Given the description of an element on the screen output the (x, y) to click on. 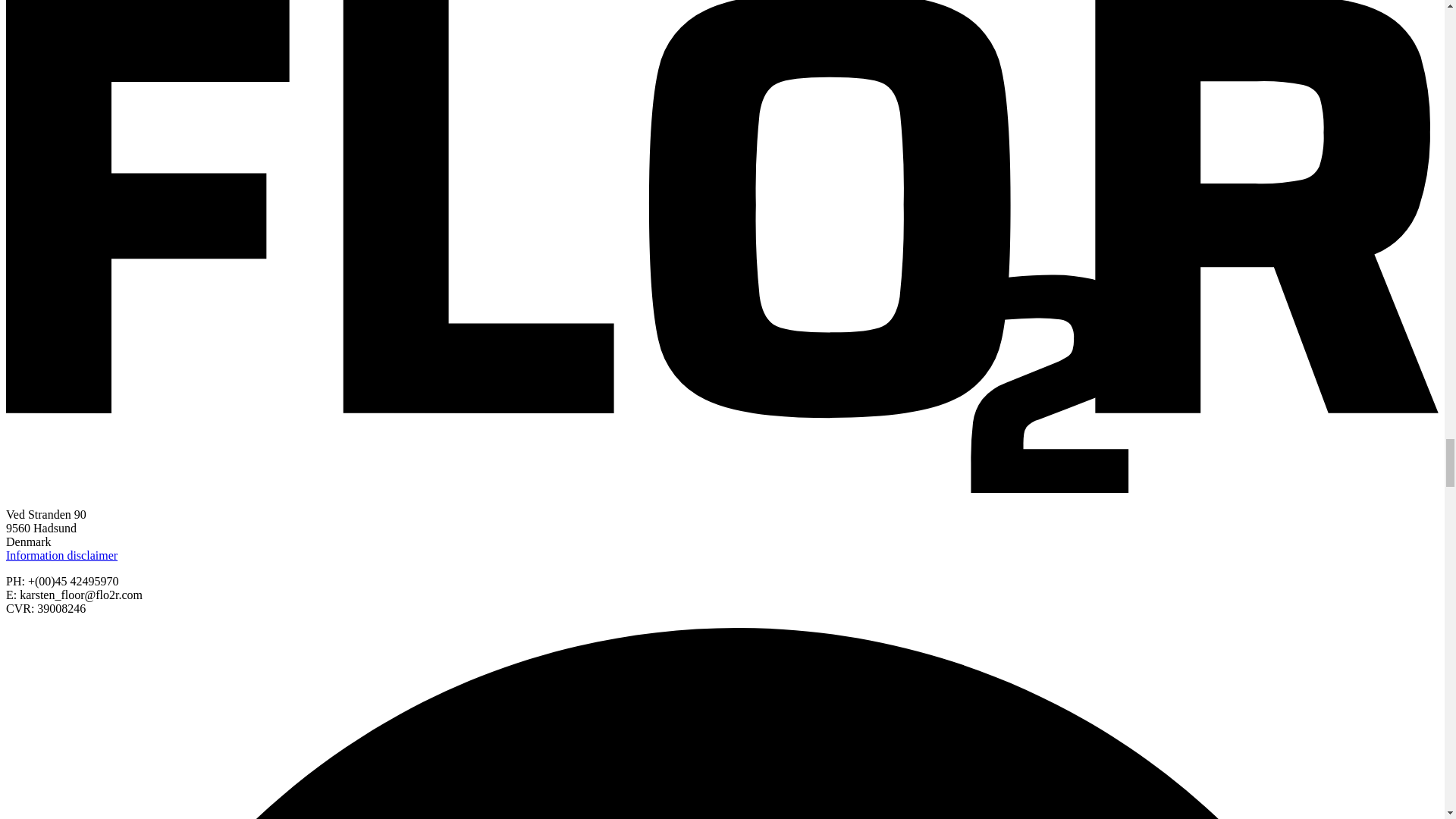
Information disclaimer (61, 554)
